Given the description of an element on the screen output the (x, y) to click on. 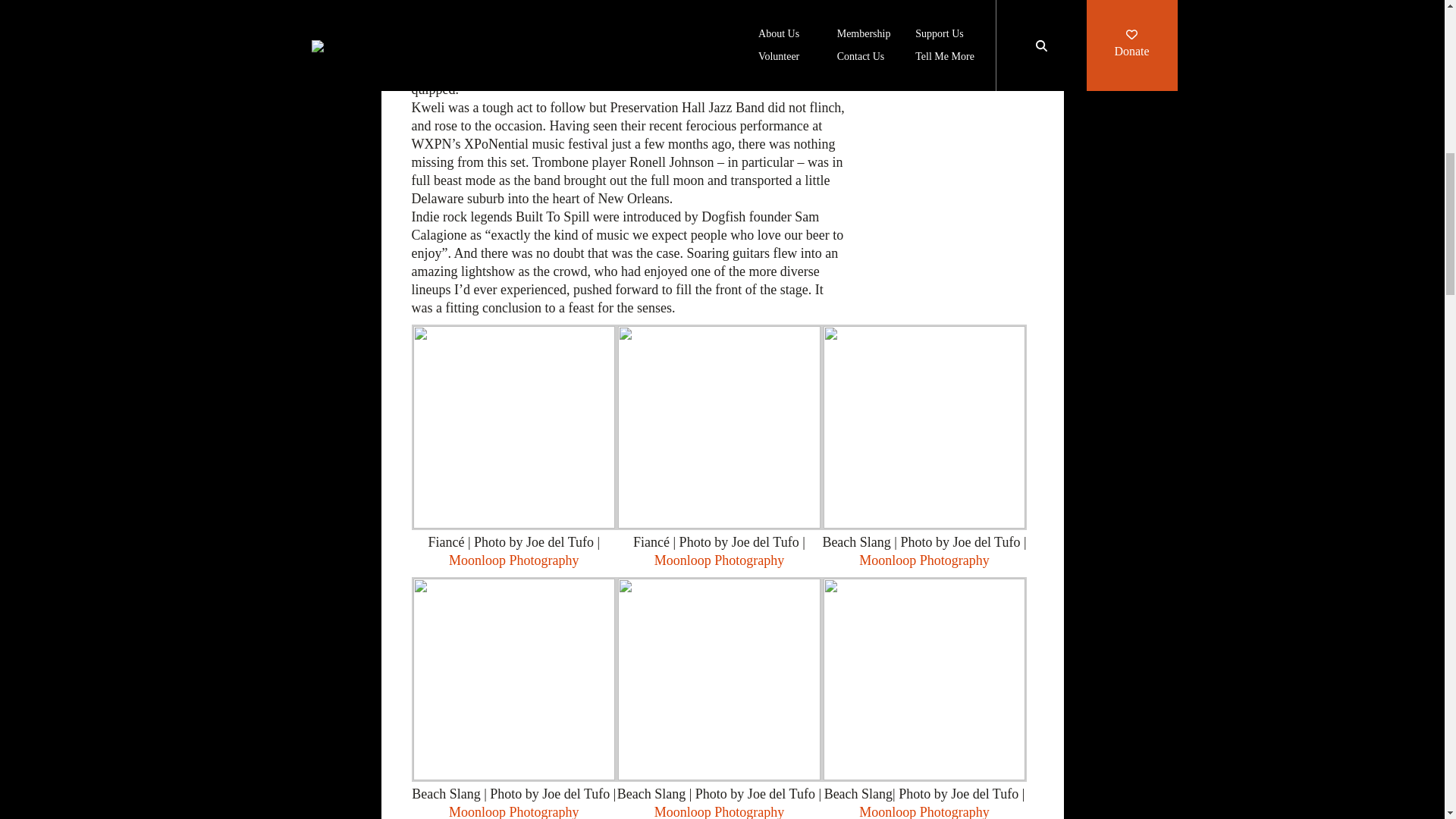
Moonloop Photography (924, 811)
Moonloop Photography (718, 811)
Moonloop Photography (924, 560)
Moonloop Photography (513, 560)
Moonloop Photography (513, 811)
Moonloop Photography (718, 560)
